Given the description of an element on the screen output the (x, y) to click on. 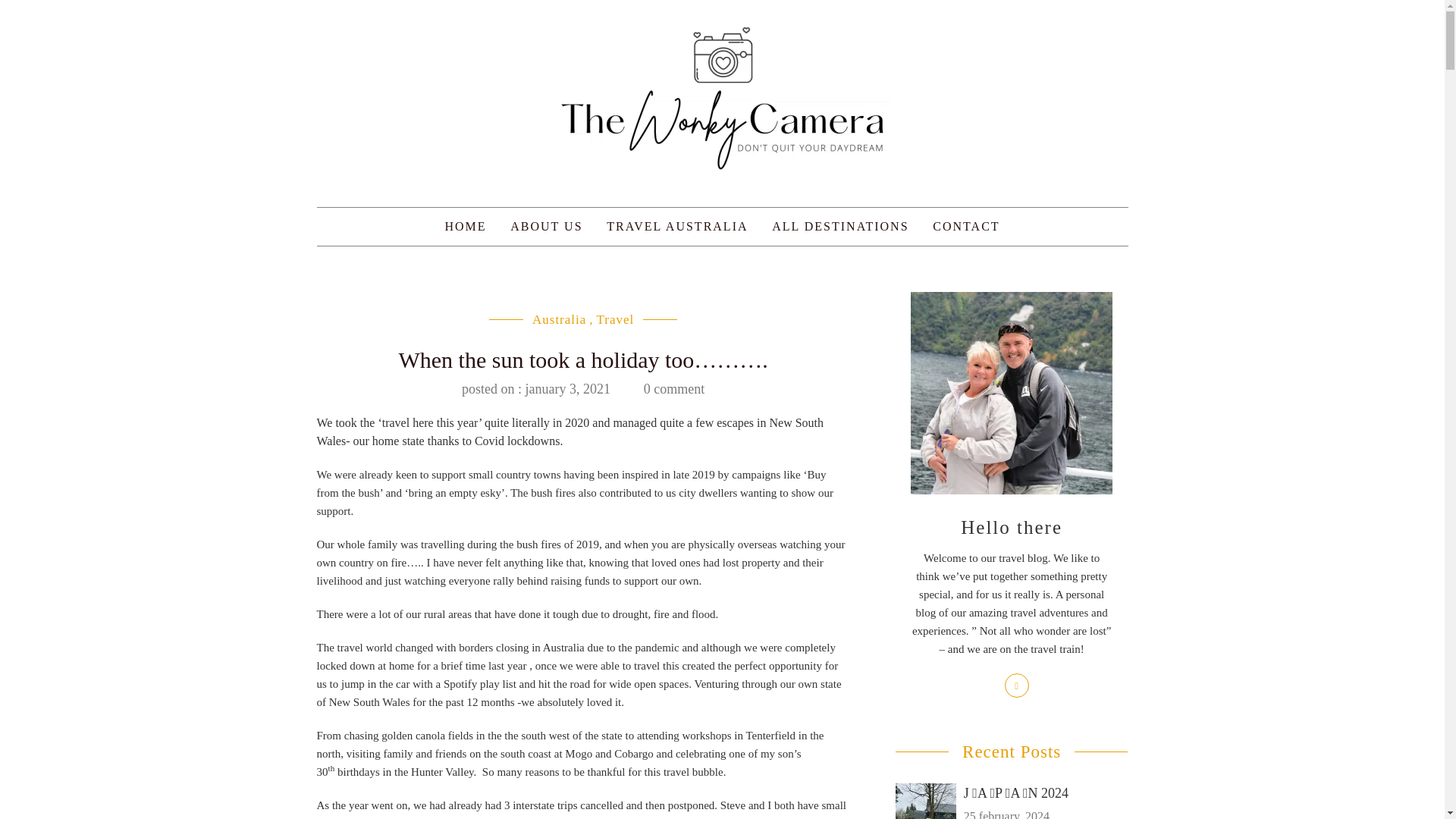
TRAVEL AUSTRALIA (676, 226)
HOME (464, 226)
CONTACT (966, 226)
ABOUT US (546, 226)
Travel (615, 319)
Australia (559, 319)
posted on : january 3, 2021 (535, 388)
ALL DESTINATIONS (839, 226)
0 comment (673, 388)
